Given the description of an element on the screen output the (x, y) to click on. 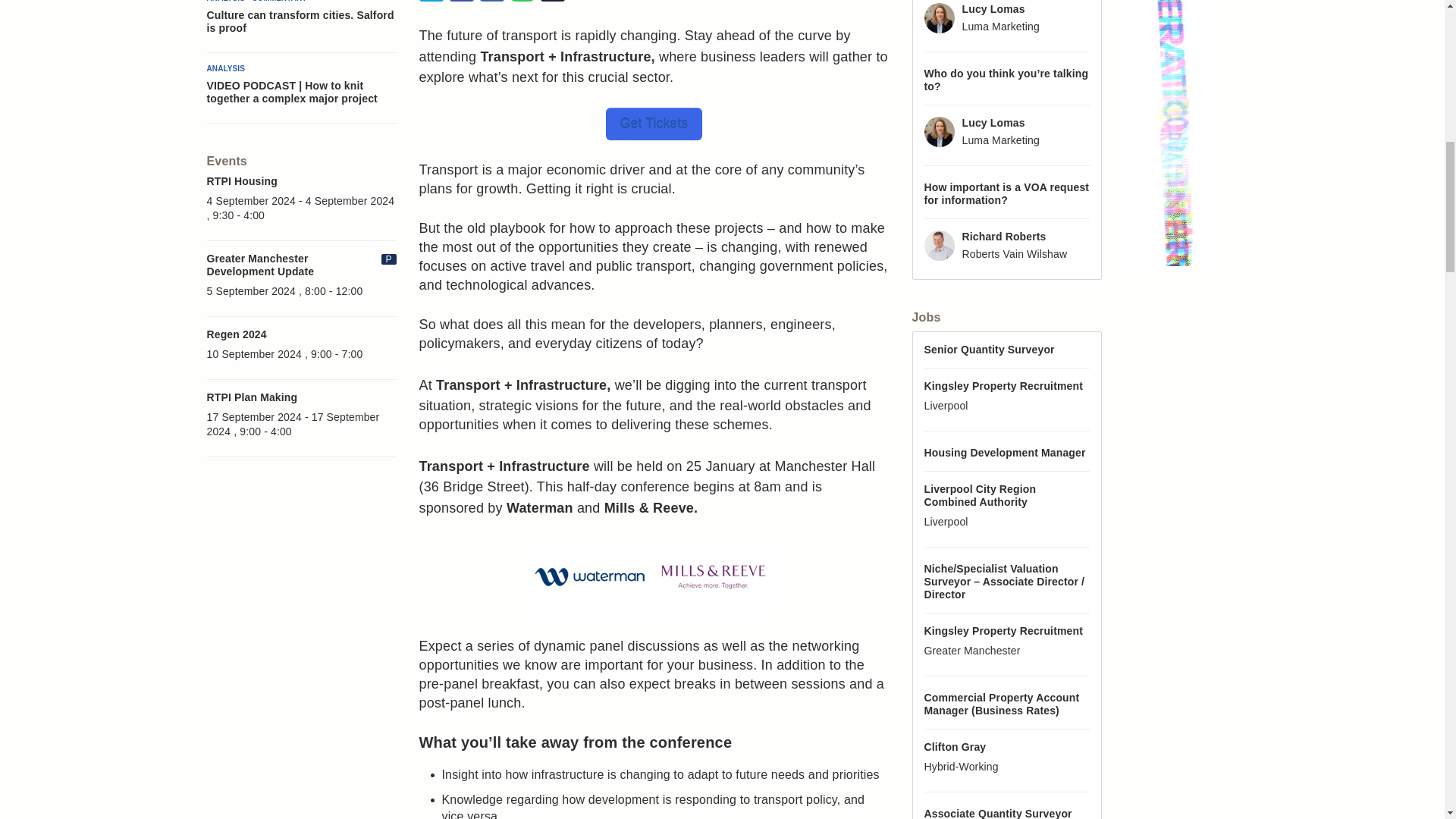
Share by Email (552, 2)
Share on WhatsApp (521, 2)
Transport Infrasturcture Horizontal Image for Event Listing (654, 576)
Share on LinkedIn (491, 2)
Share on Facebook (460, 2)
Share on Twiiter (430, 2)
